Given the description of an element on the screen output the (x, y) to click on. 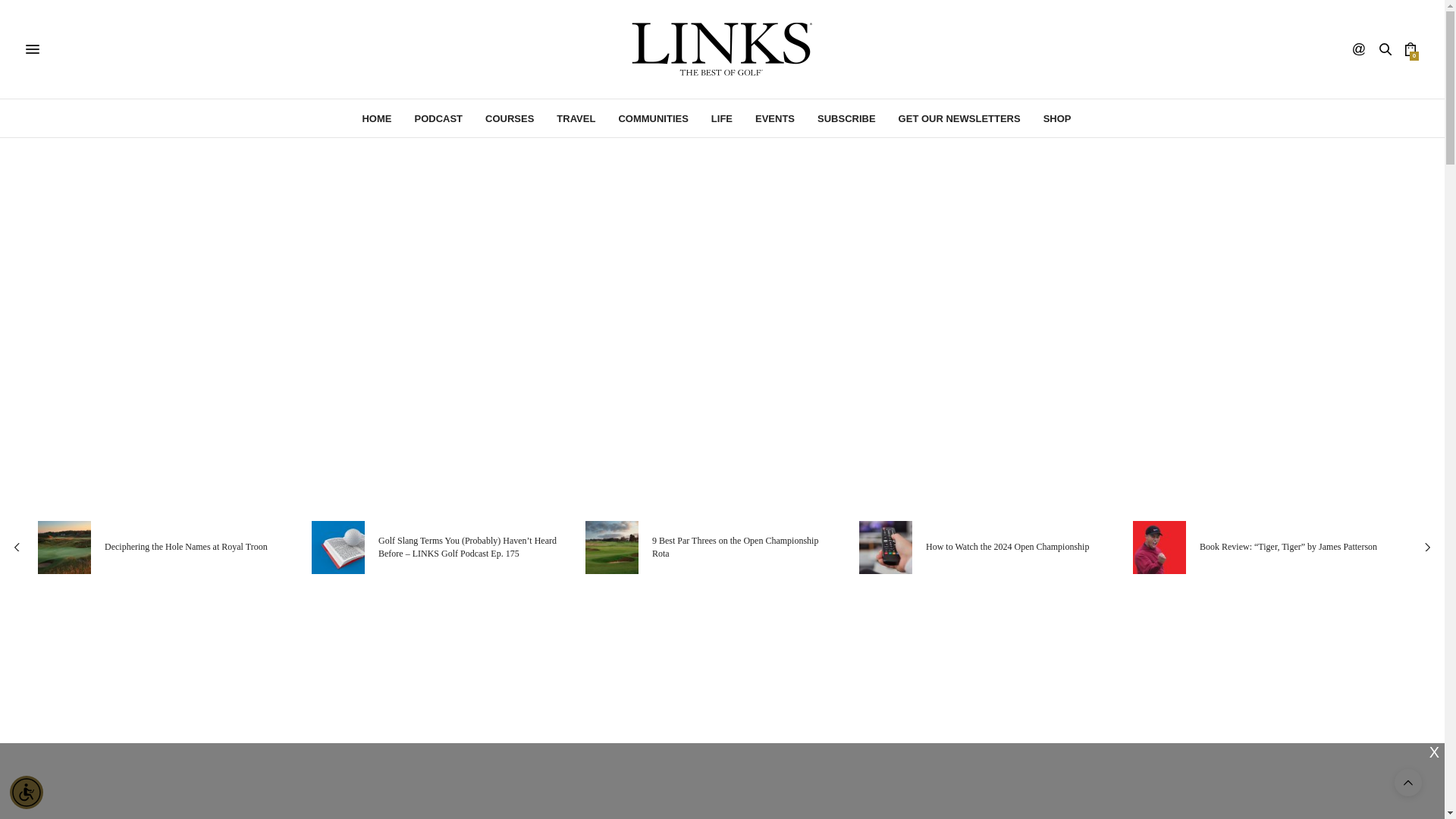
COMMUNITIES (652, 118)
EVENTS (774, 118)
Accessibility Menu (26, 792)
LIFE (721, 118)
0 (1410, 48)
PODCAST (438, 118)
SHOP (1057, 118)
COURSES (509, 118)
SUBSCRIBE (846, 118)
GET OUR NEWSLETTERS (959, 118)
HOME (376, 118)
TRAVEL (575, 118)
3rd party ad content (721, 780)
